Given the description of an element on the screen output the (x, y) to click on. 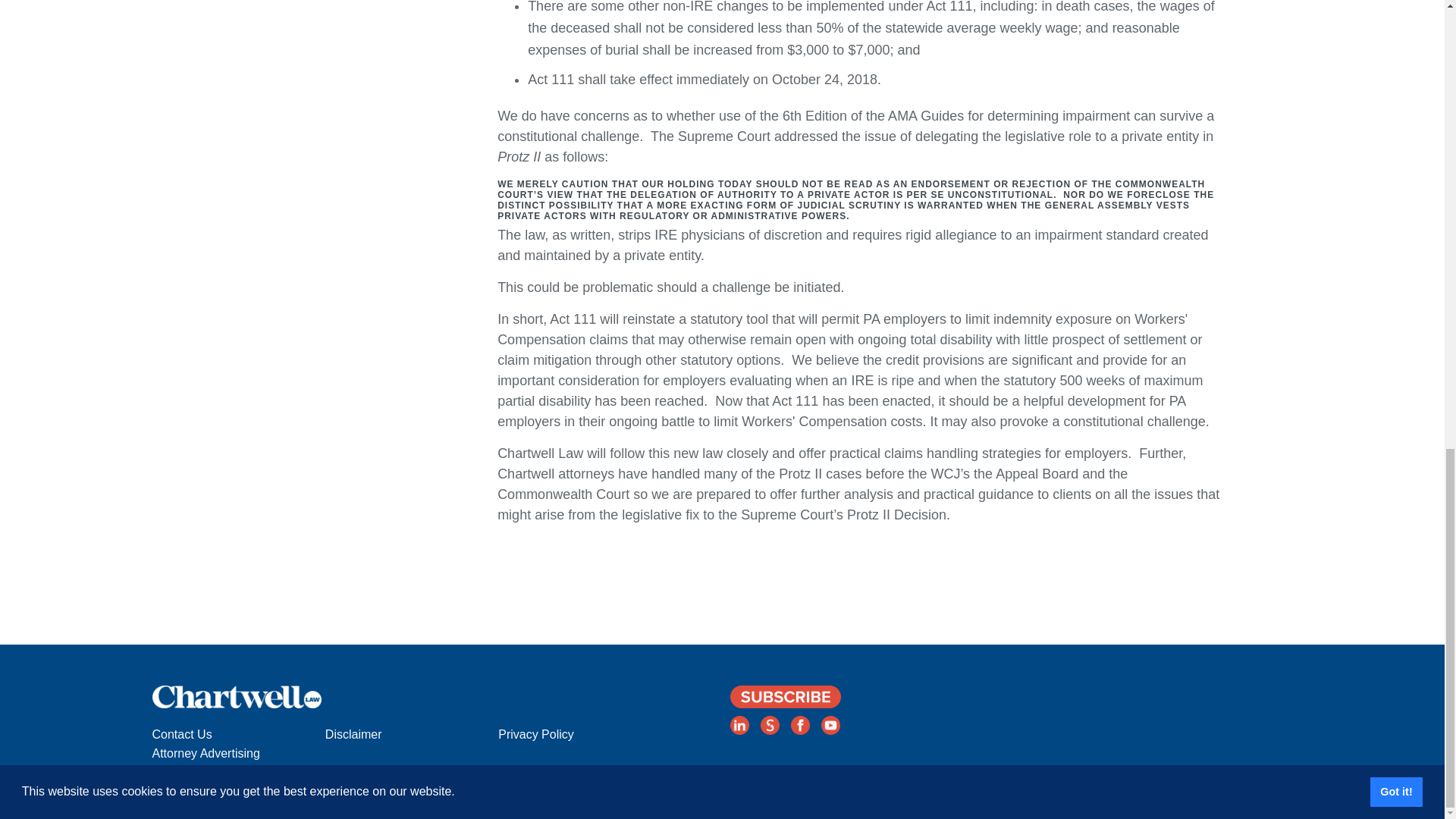
Disclaimer (410, 734)
Contact Us (237, 734)
Privacy Policy (584, 734)
Attorney Advertising (237, 753)
